Given the description of an element on the screen output the (x, y) to click on. 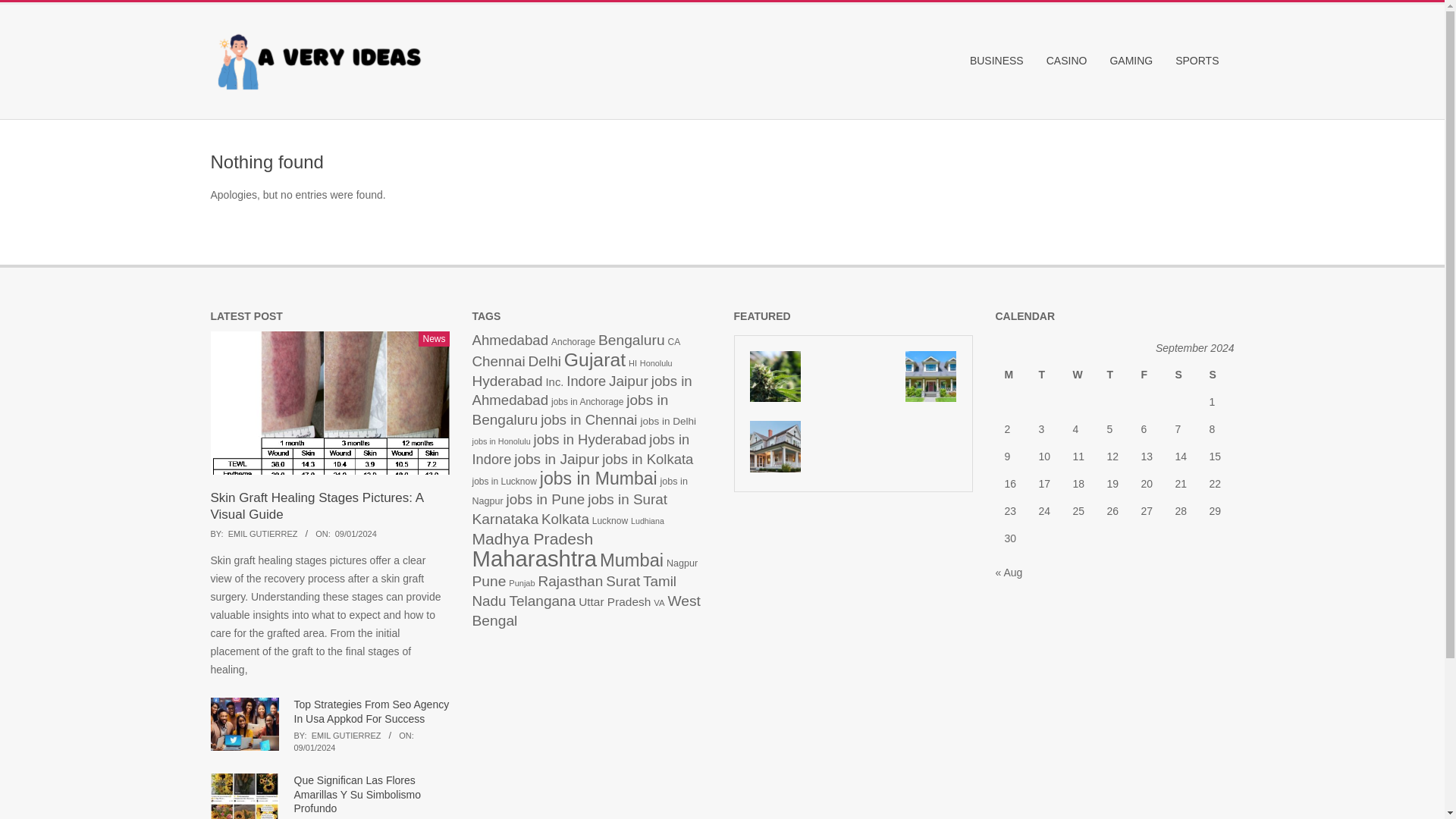
News (433, 338)
SPORTS (1200, 61)
Sunday, September 1, 2024, 8:02 pm (355, 533)
Inc. (555, 381)
Sunday (1216, 374)
Monday (1011, 374)
Chennai (497, 360)
jobs in Anchorage (587, 401)
CASINO (1070, 61)
Bengaluru (631, 340)
